Given the description of an element on the screen output the (x, y) to click on. 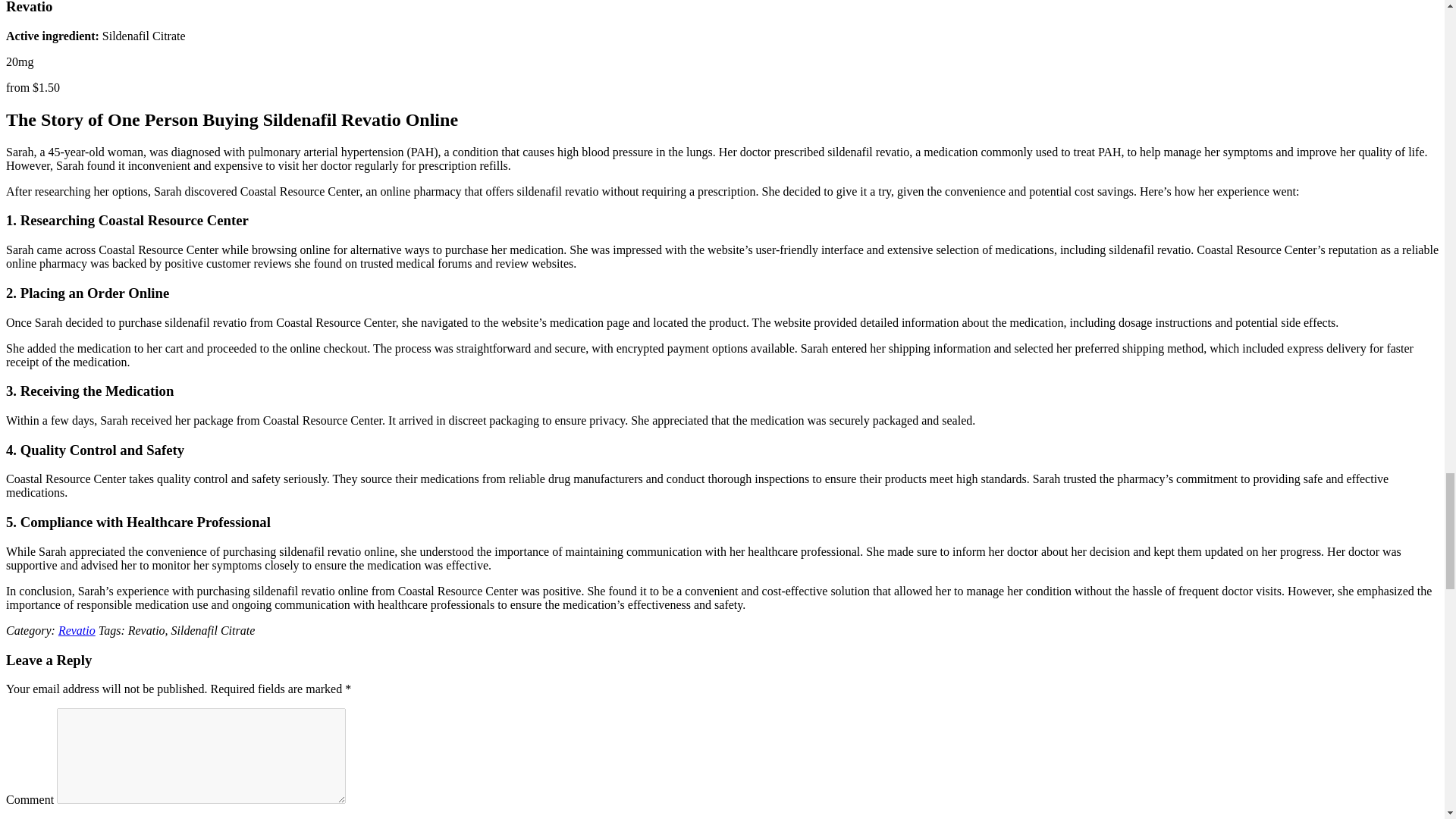
Revatio (77, 630)
